Given the description of an element on the screen output the (x, y) to click on. 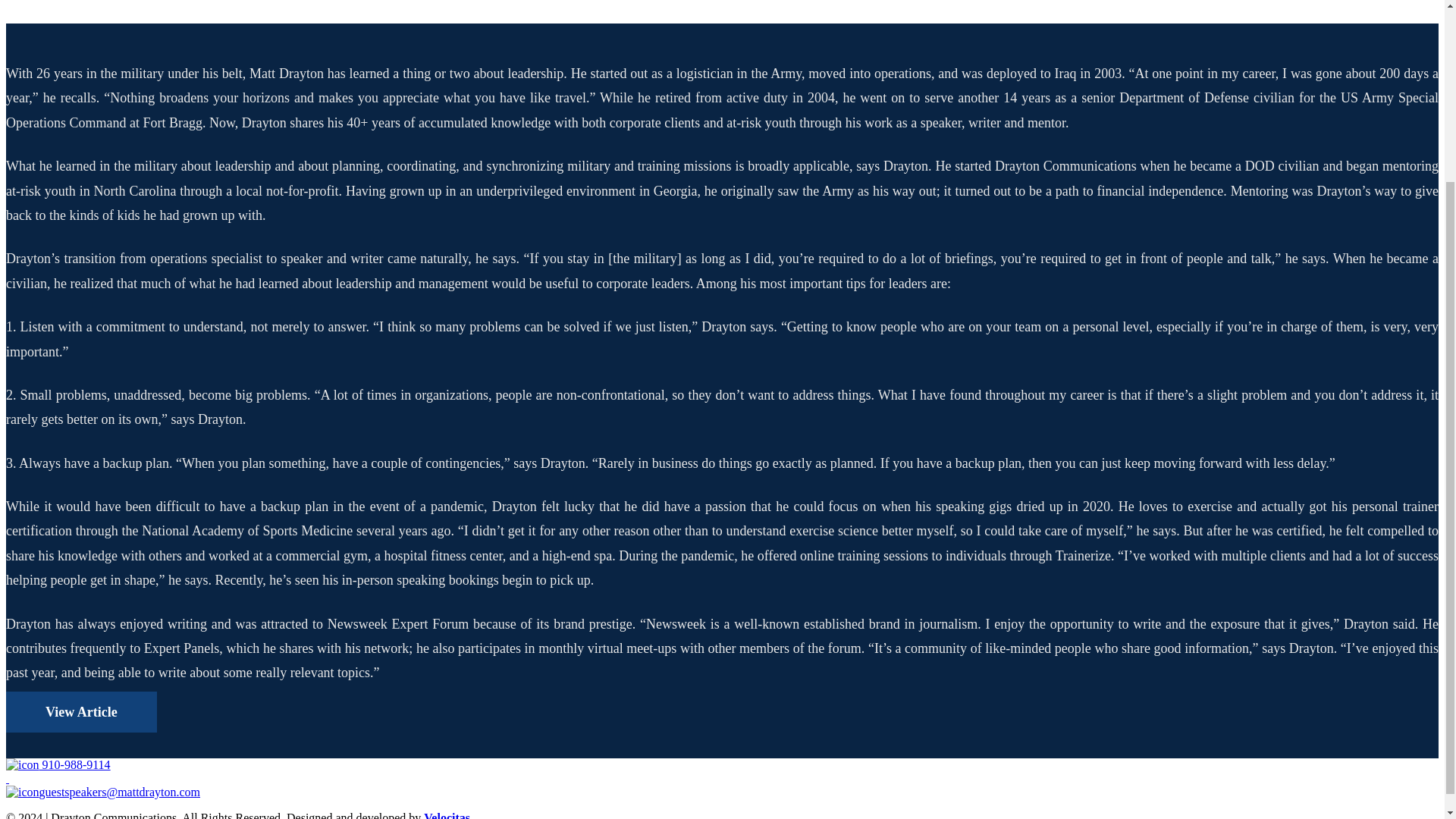
910-988-9114 (57, 764)
View Article (81, 711)
